Given the description of an element on the screen output the (x, y) to click on. 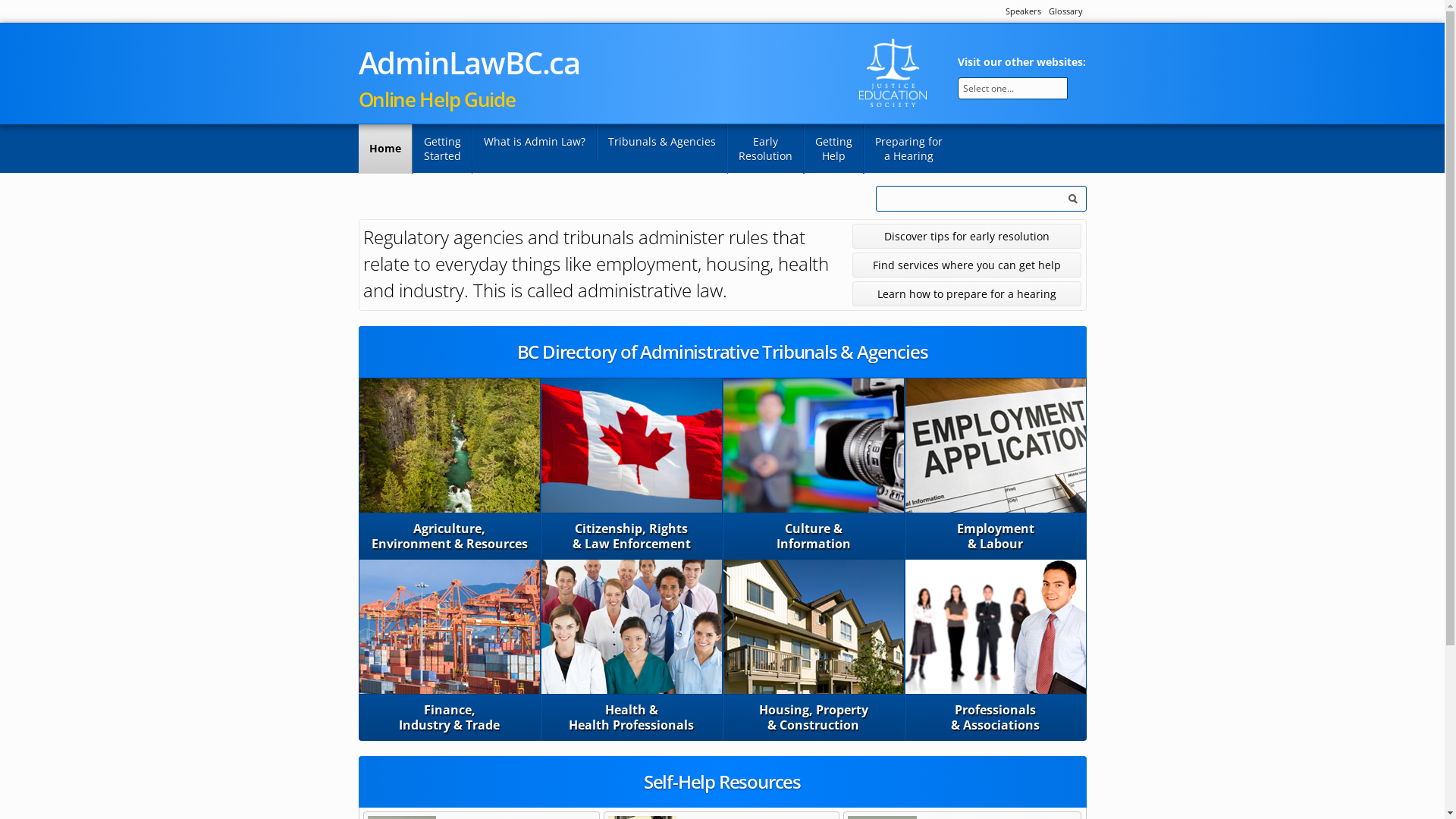
Preparing for
a Hearing Element type: text (907, 148)
Discover tips for early resolution Element type: text (967, 235)
AdminLawBC.ca Element type: text (468, 62)
Find services where you can get help Element type: text (967, 264)
Professionals
& Associations Element type: text (995, 649)
Enter the terms you wish to search for. Element type: hover (980, 198)
What is Admin Law? Element type: text (533, 142)
Learn how to prepare for a hearing Element type: text (967, 293)
Employment
& Labour Element type: text (995, 468)
Getting
Help Element type: text (833, 148)
Tribunals & Agencies Element type: text (661, 142)
Citizenship, Rights
& Law Enforcement Element type: text (631, 468)
Culture &
Information Element type: text (813, 468)
Agriculture,
Environment & Resources Element type: text (449, 468)
Speakers Element type: text (1023, 10)
Health &
Health Professionals Element type: text (631, 649)
Glossary Element type: text (1065, 10)
Housing, Property
& Construction Element type: text (813, 649)
Home Element type: text (384, 148)
Select one... Element type: text (1012, 88)
Early
Resolution Element type: text (764, 148)
Finance,
Industry & Trade Element type: text (449, 649)
Getting
Started Element type: text (442, 148)
